Given the description of an element on the screen output the (x, y) to click on. 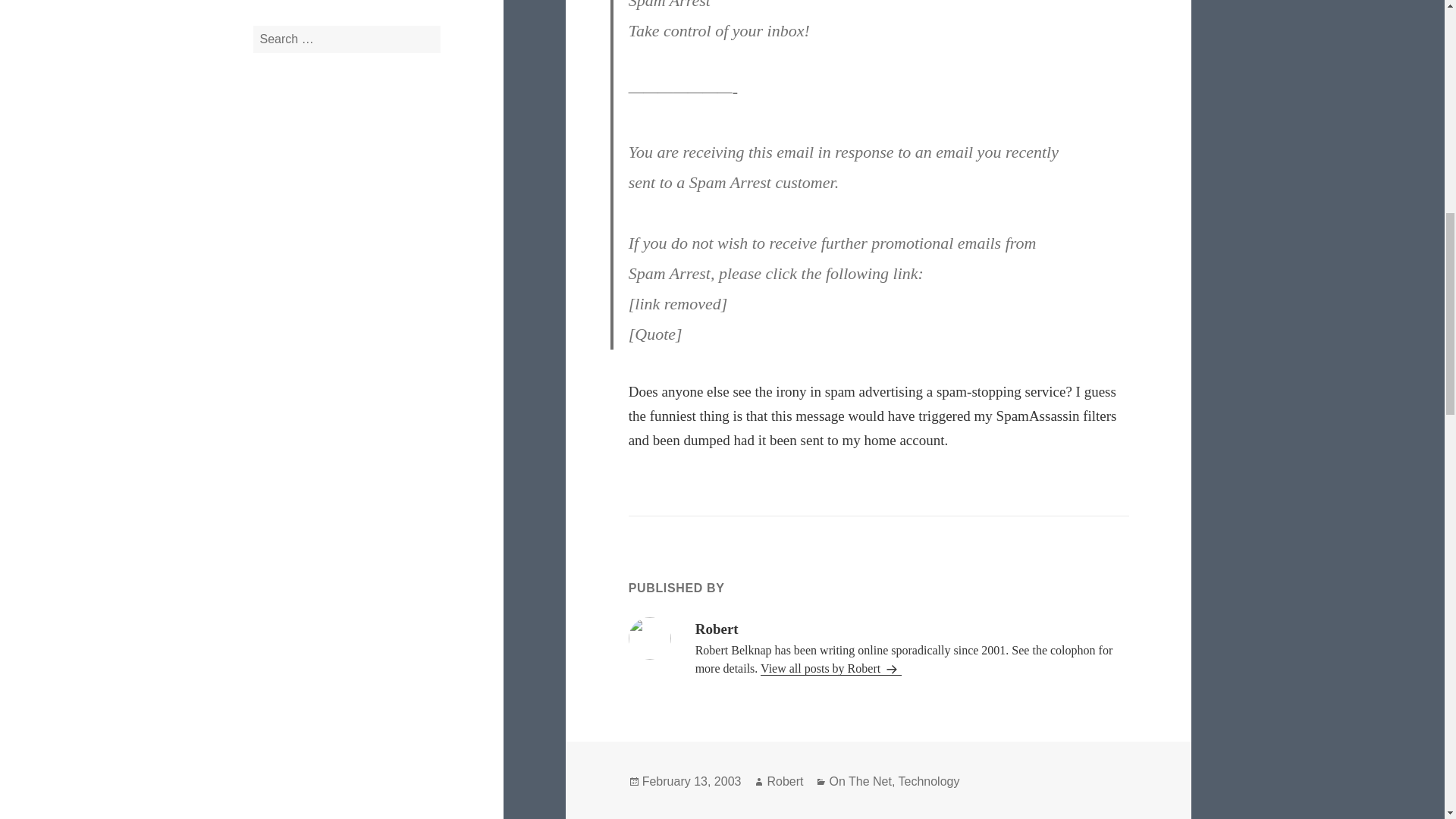
View all posts by Robert (830, 668)
Robert (785, 781)
February 13, 2003 (691, 781)
On The Net (859, 781)
Technology (928, 781)
